Given the description of an element on the screen output the (x, y) to click on. 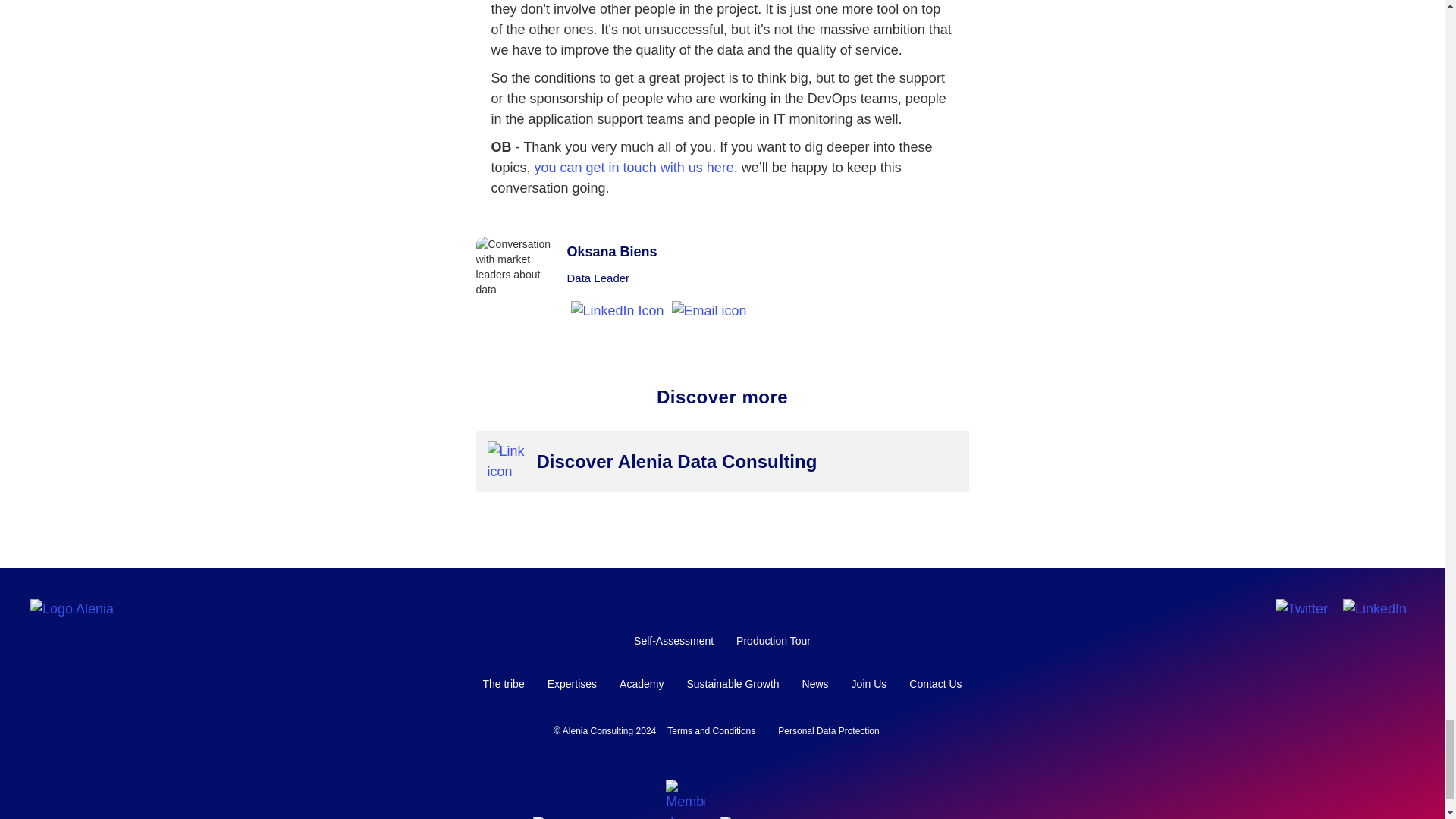
Join Us (869, 683)
The tribe (502, 683)
News (815, 683)
Sustainable Growth (732, 683)
Academy (641, 683)
Expertises (571, 683)
Contact Us (935, 683)
Production Tour (773, 640)
you can get in touch with us here (633, 167)
Self-Assessment (674, 640)
Terms and Conditions (711, 731)
Personal Data Protection (828, 731)
Discover Alenia Data Consulting (684, 461)
